Given the description of an element on the screen output the (x, y) to click on. 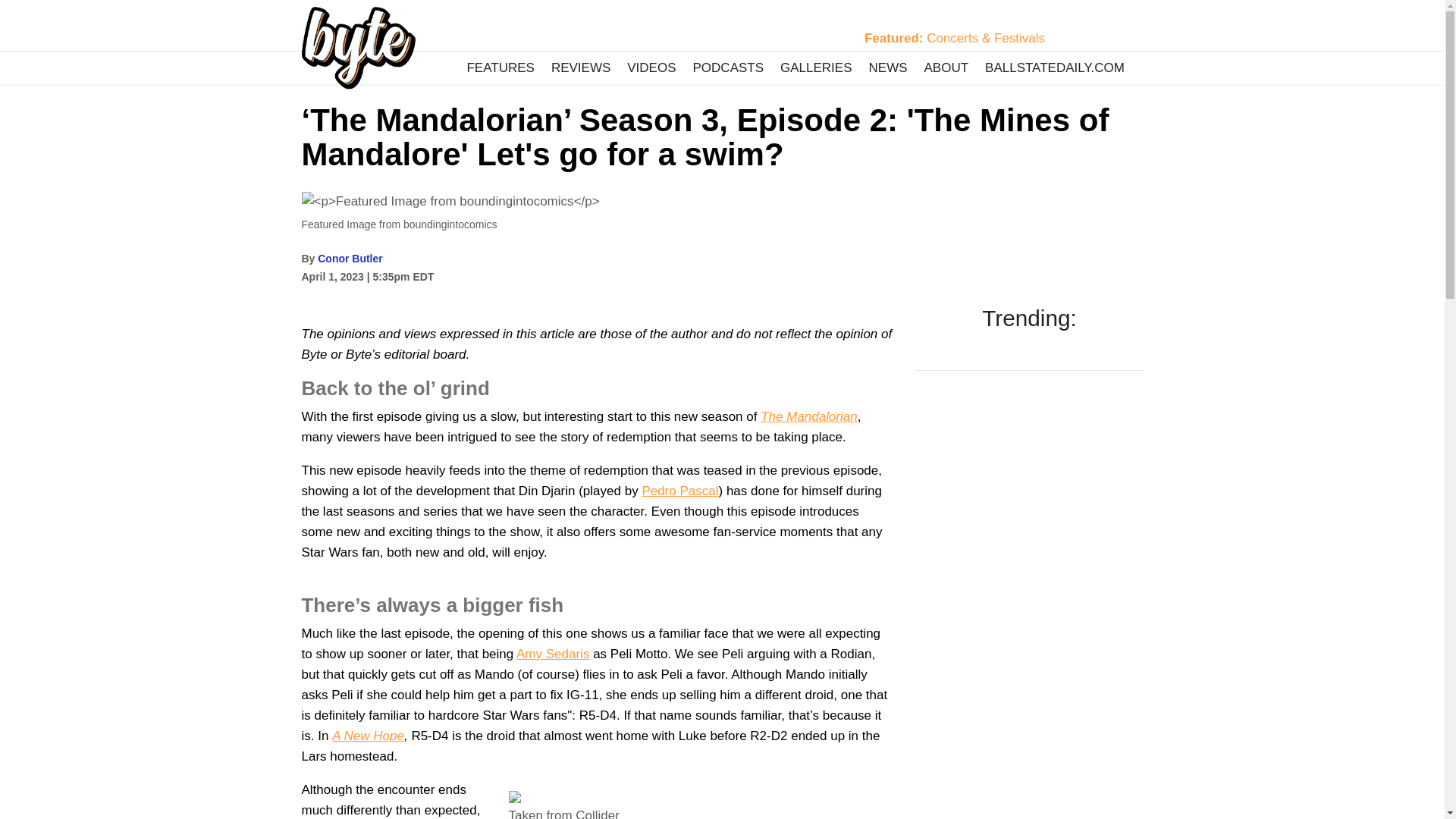
PODCASTS (727, 67)
ABOUT (946, 67)
GALLERIES (816, 67)
NEWS (887, 67)
VIDEOS (651, 67)
REVIEWS (579, 67)
FEATURES (500, 67)
BALLSTATEDAILY.COM (1054, 67)
